Given the description of an element on the screen output the (x, y) to click on. 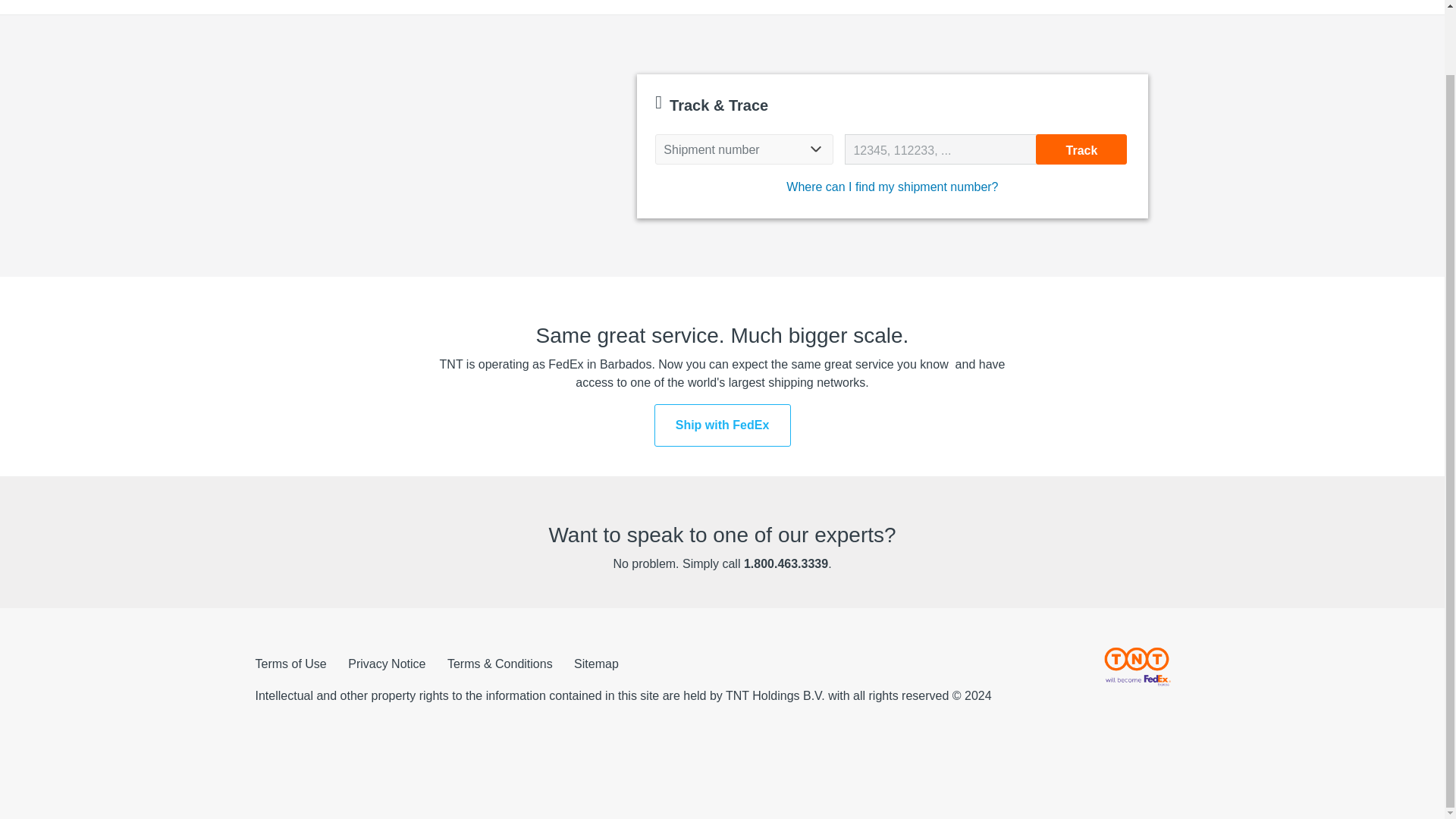
Ship with FedEx (721, 425)
Where can I find my shipment number? (892, 186)
Track (1080, 148)
Terms of Use (290, 663)
Privacy Notice (386, 663)
Sitemap (595, 663)
